Given the description of an element on the screen output the (x, y) to click on. 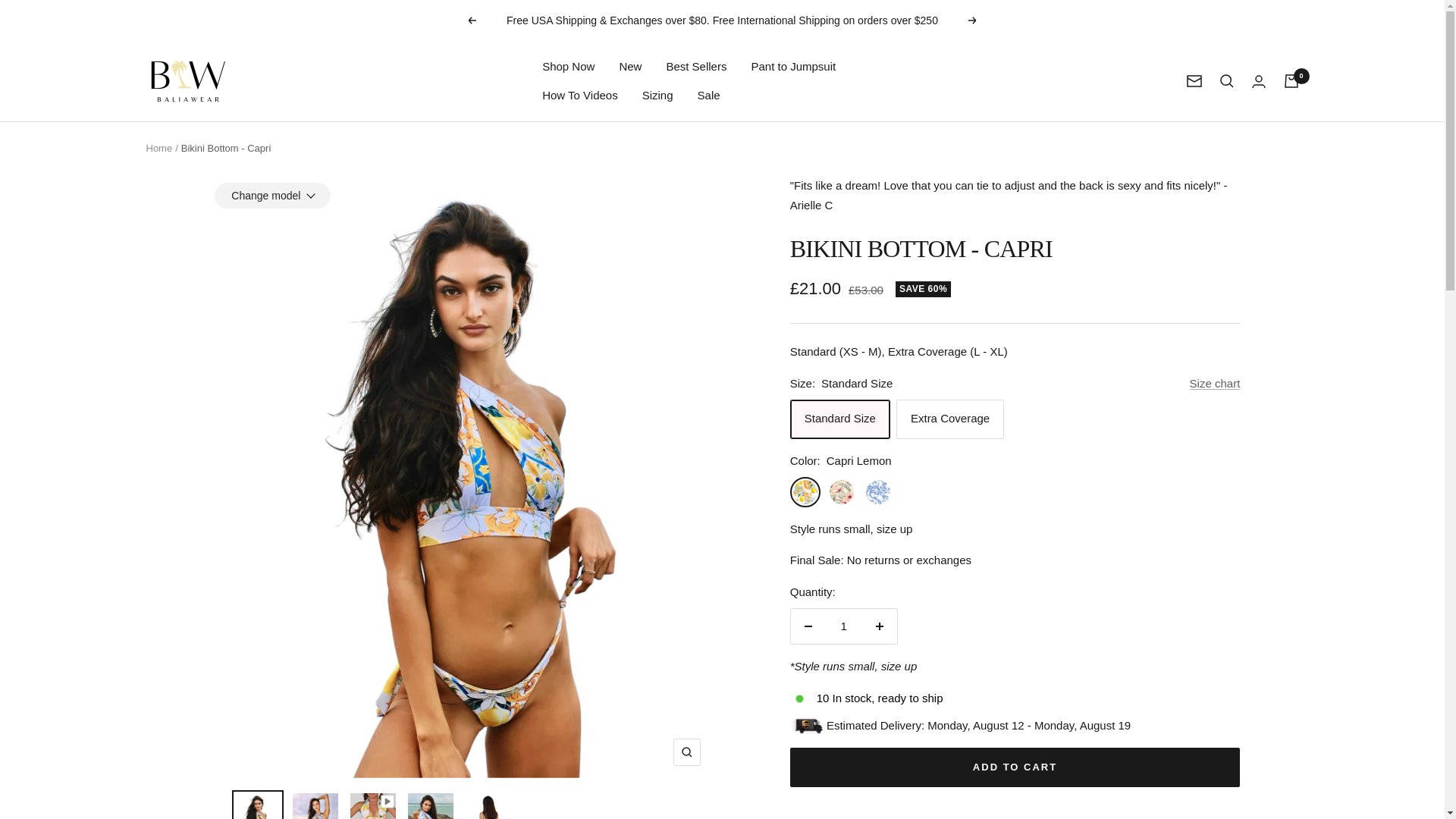
Newsletter (1194, 80)
Sizing (657, 95)
Previous (471, 20)
1 (843, 626)
How To Videos (579, 95)
Pant to Jumpsuit (793, 66)
Zoom (686, 751)
Shop Now (567, 66)
